Given the description of an element on the screen output the (x, y) to click on. 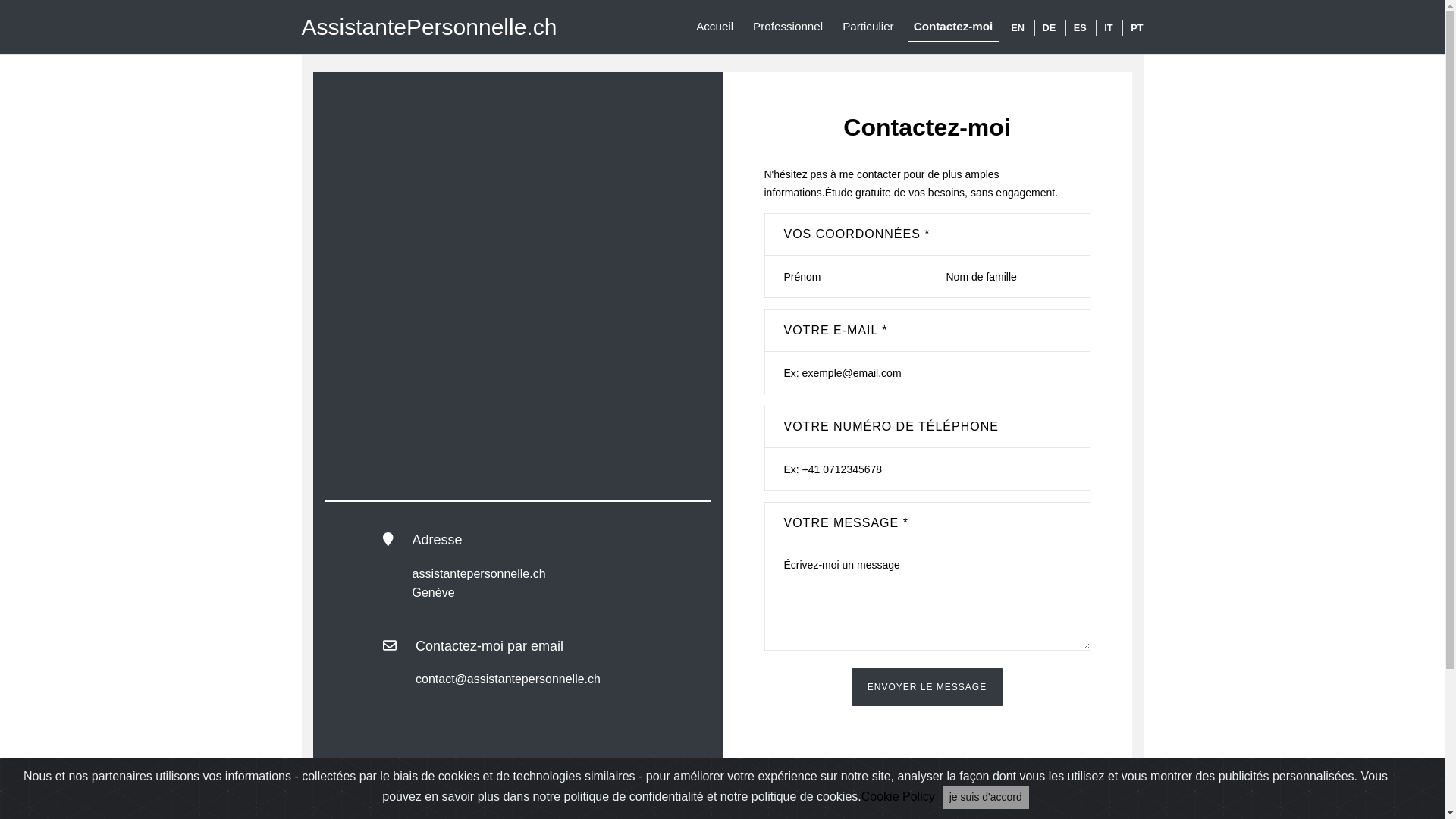
Ou nous trouver Element type: hover (517, 311)
AssistantePersonnelle.ch Element type: text (429, 26)
Professionnel Element type: text (787, 26)
PT Element type: text (1132, 26)
Accueil Element type: text (714, 26)
je suis d'accord Element type: text (985, 797)
EN Element type: text (1013, 26)
Particulier Element type: text (868, 26)
contact@assistantepersonnelle.ch Element type: text (507, 679)
Cookie Policy Element type: text (898, 796)
ENVOYER LE MESSAGE Element type: text (926, 687)
DE Element type: text (1045, 26)
ES Element type: text (1075, 26)
Contactez-moi Element type: text (953, 27)
IT Element type: text (1103, 26)
